Given the description of an element on the screen output the (x, y) to click on. 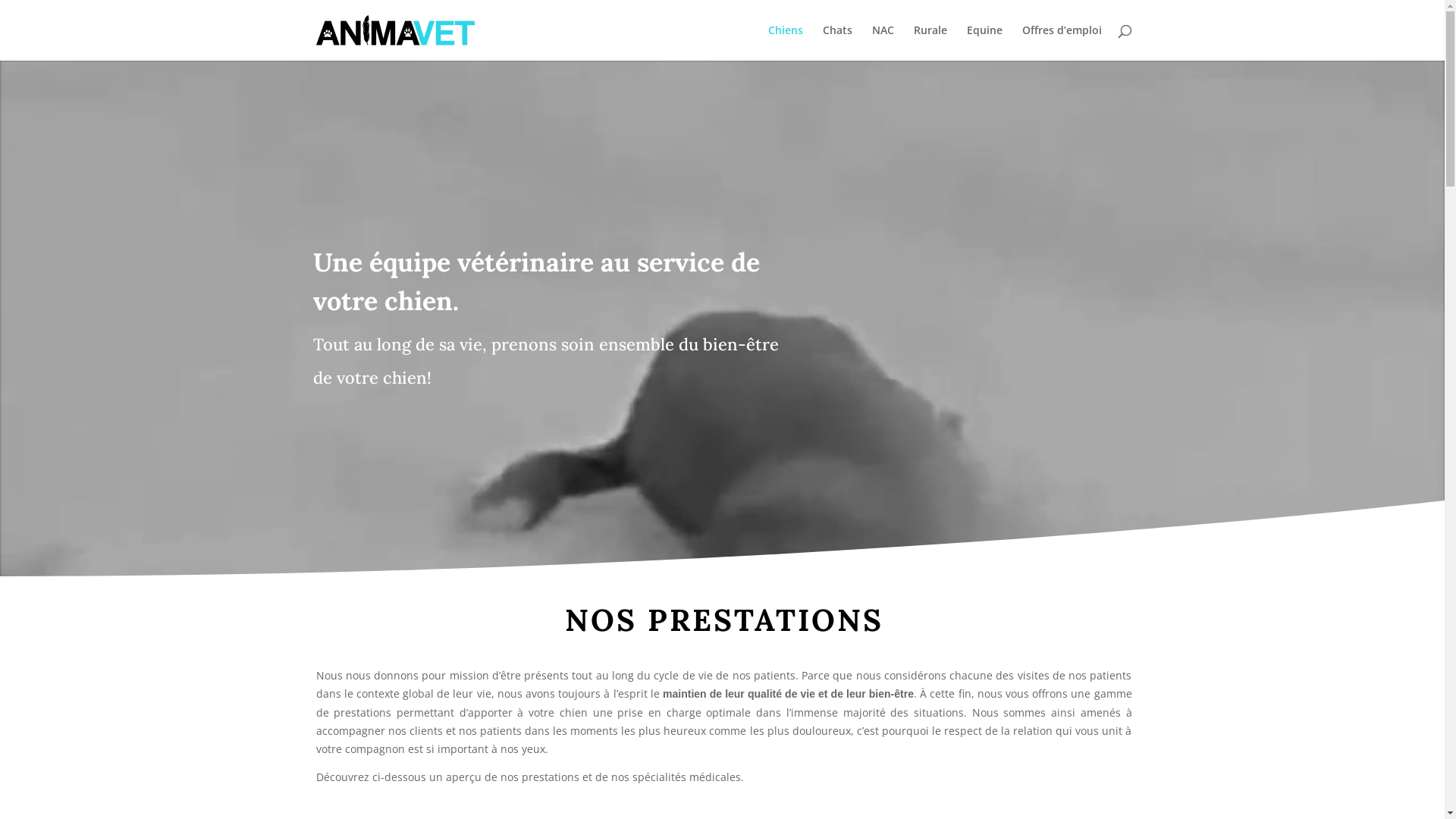
NAC Element type: text (883, 42)
Chiens Element type: text (784, 42)
Equine Element type: text (983, 42)
Rurale Element type: text (929, 42)
Chats Element type: text (836, 42)
